Given the description of an element on the screen output the (x, y) to click on. 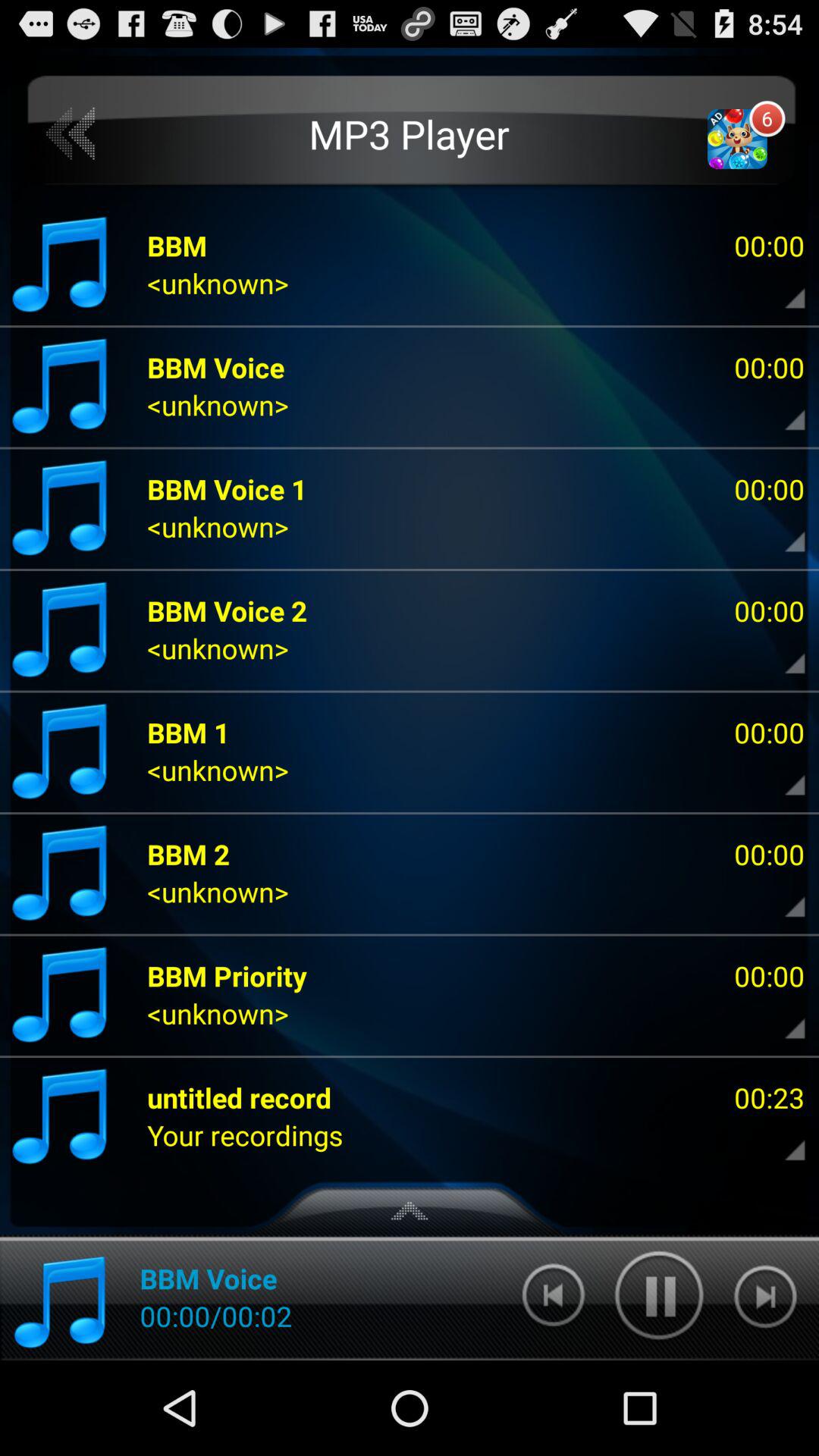
flip until the untitled record app (239, 1097)
